Given the description of an element on the screen output the (x, y) to click on. 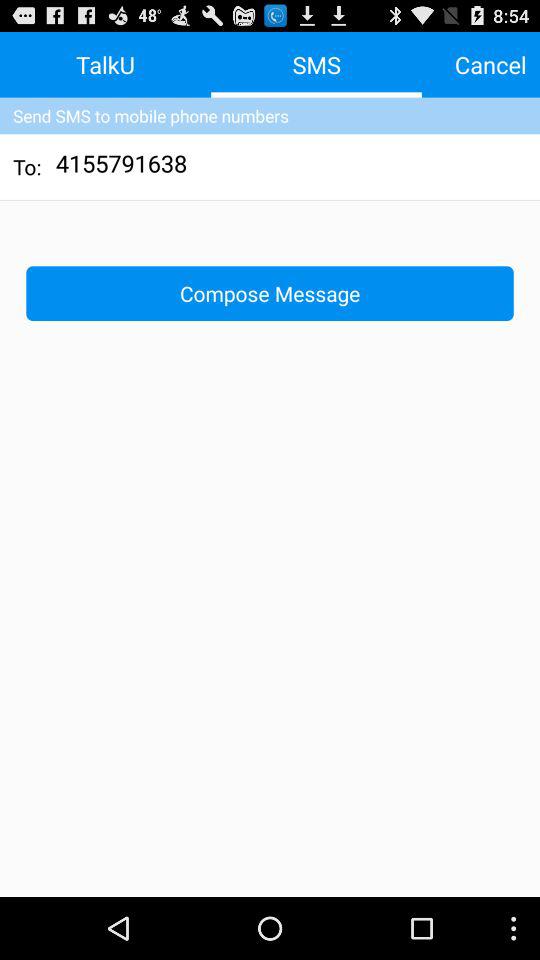
choose talku (105, 64)
